Given the description of an element on the screen output the (x, y) to click on. 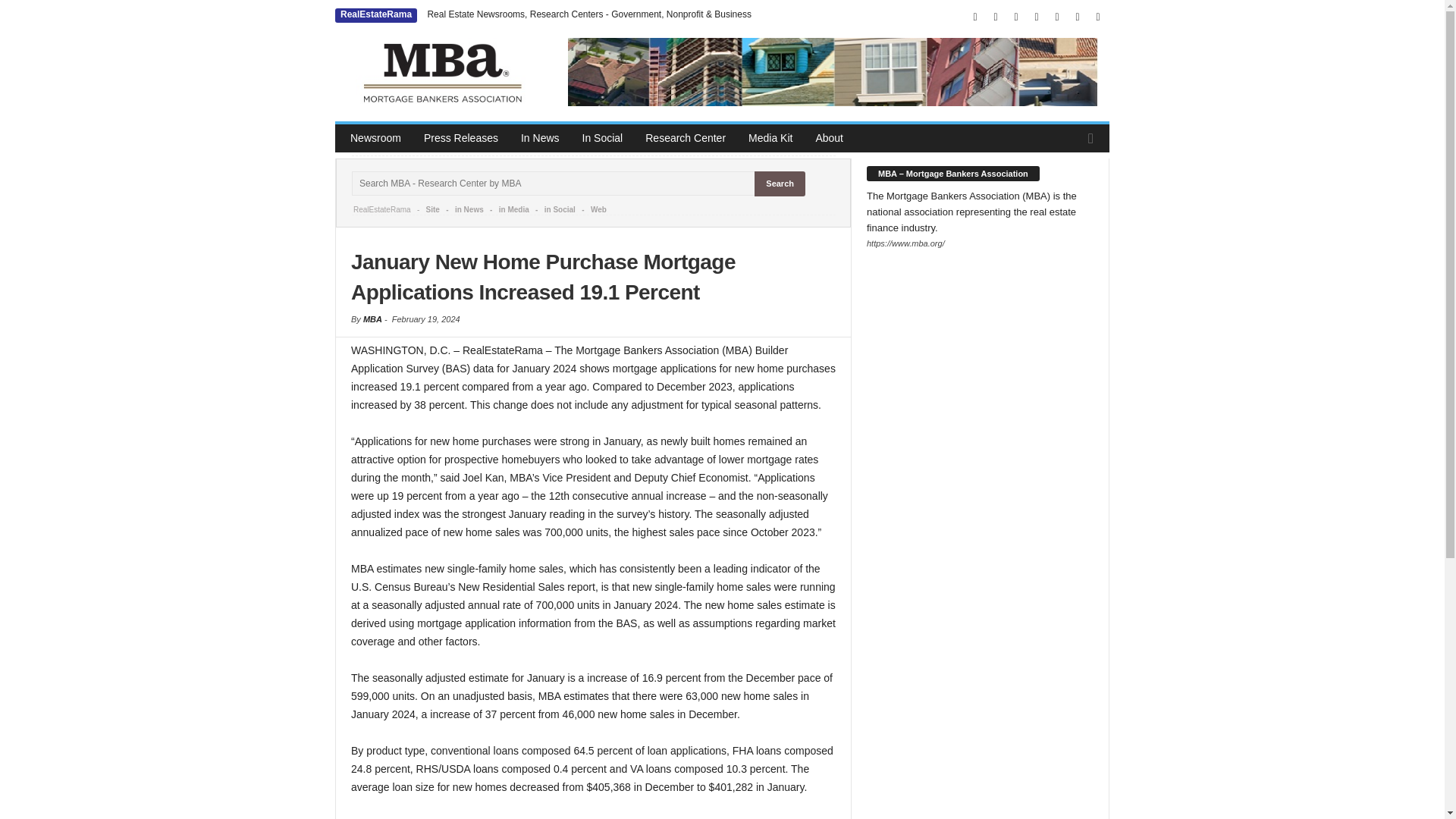
MBA (833, 72)
RSS (1056, 17)
Facebook (975, 17)
Search (779, 183)
MBA Newsroom and Research Center (441, 71)
Youtube (1097, 17)
Mail (1016, 17)
Linkedin (995, 17)
Twitter (1077, 17)
Pinterest (1036, 17)
